Given the description of an element on the screen output the (x, y) to click on. 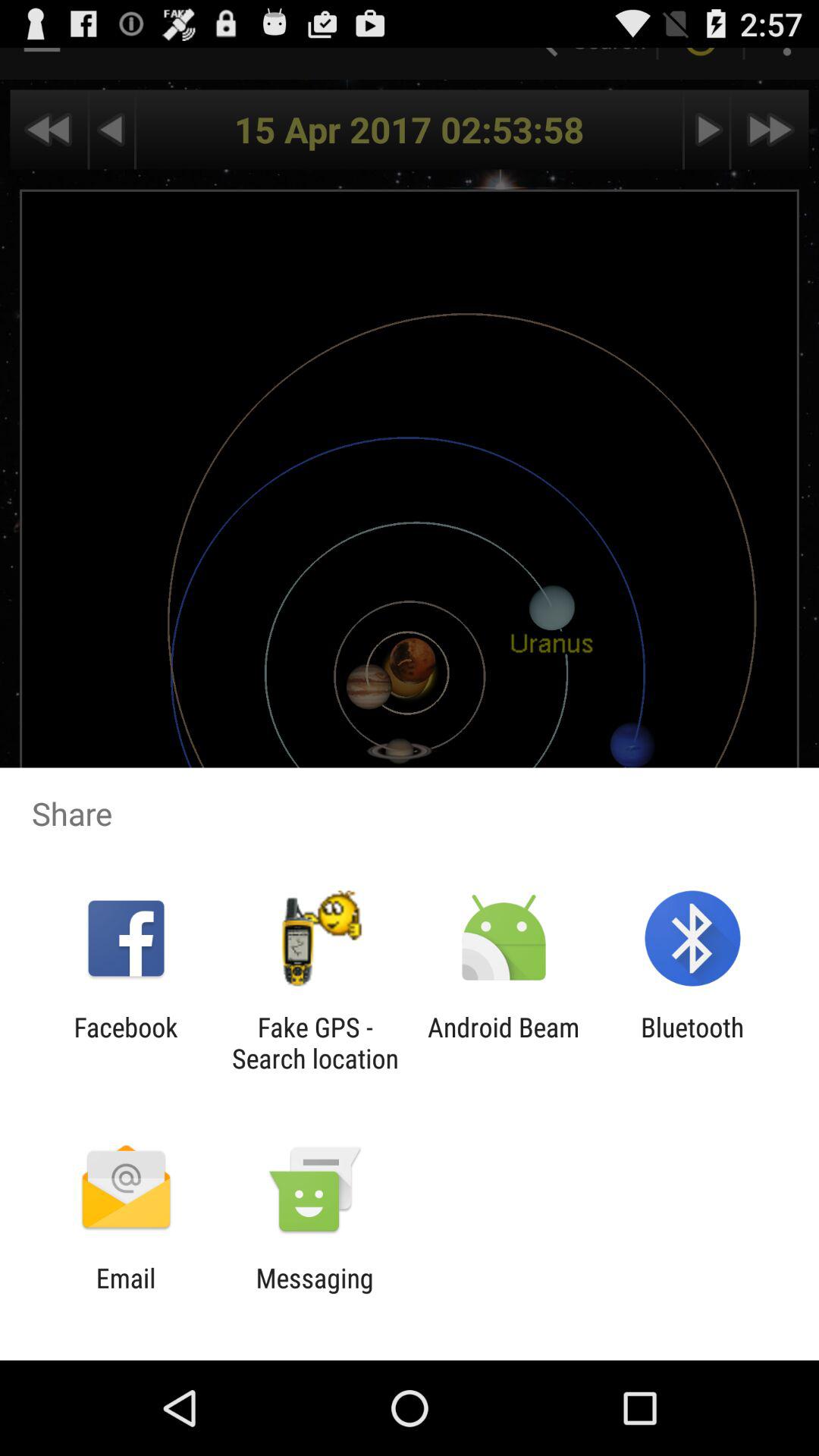
open icon to the right of android beam app (691, 1042)
